Given the description of an element on the screen output the (x, y) to click on. 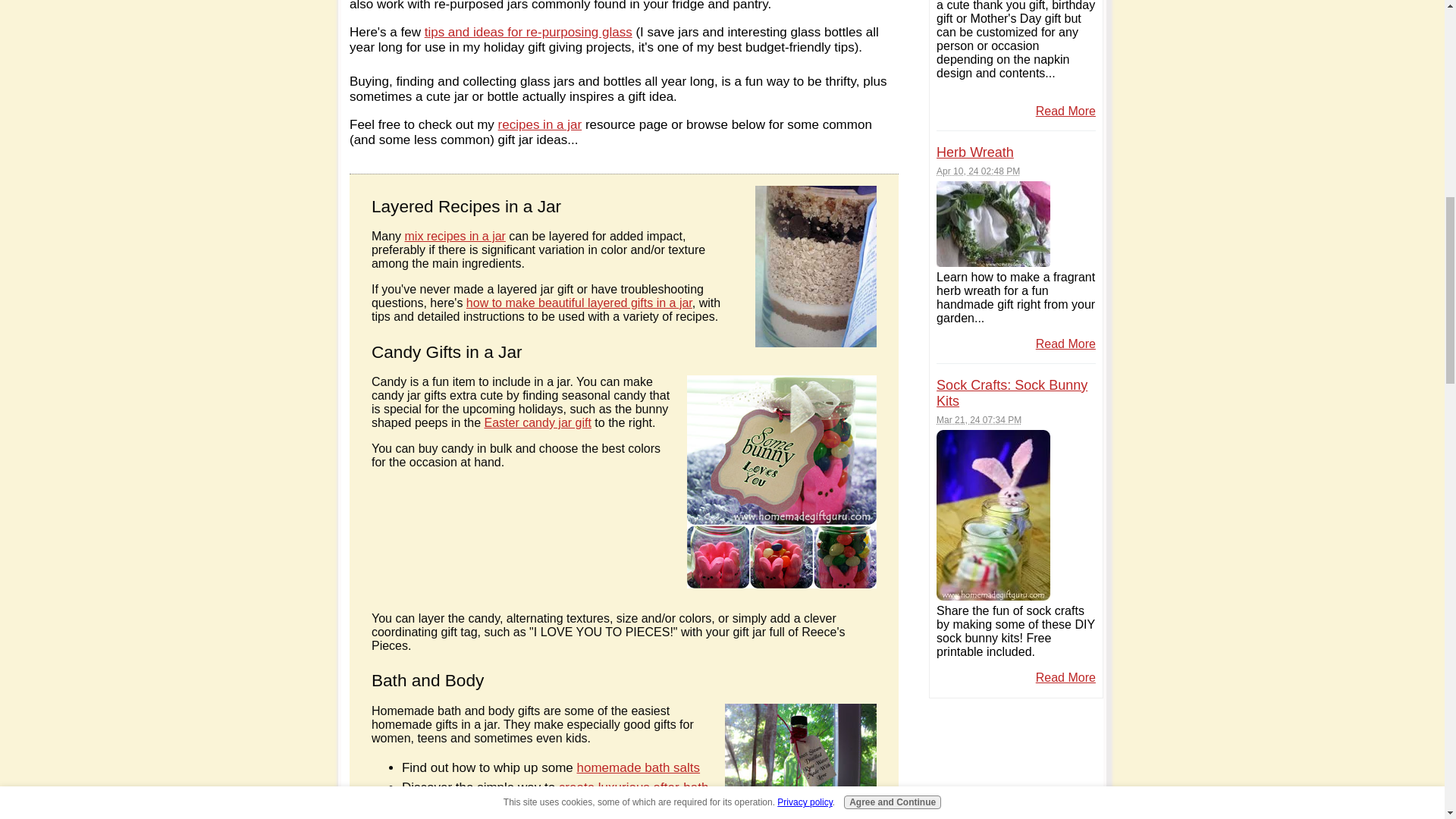
2024-04-10T14:48:33-0400 (978, 171)
2024-03-21T19:34:18-0400 (979, 419)
